Given the description of an element on the screen output the (x, y) to click on. 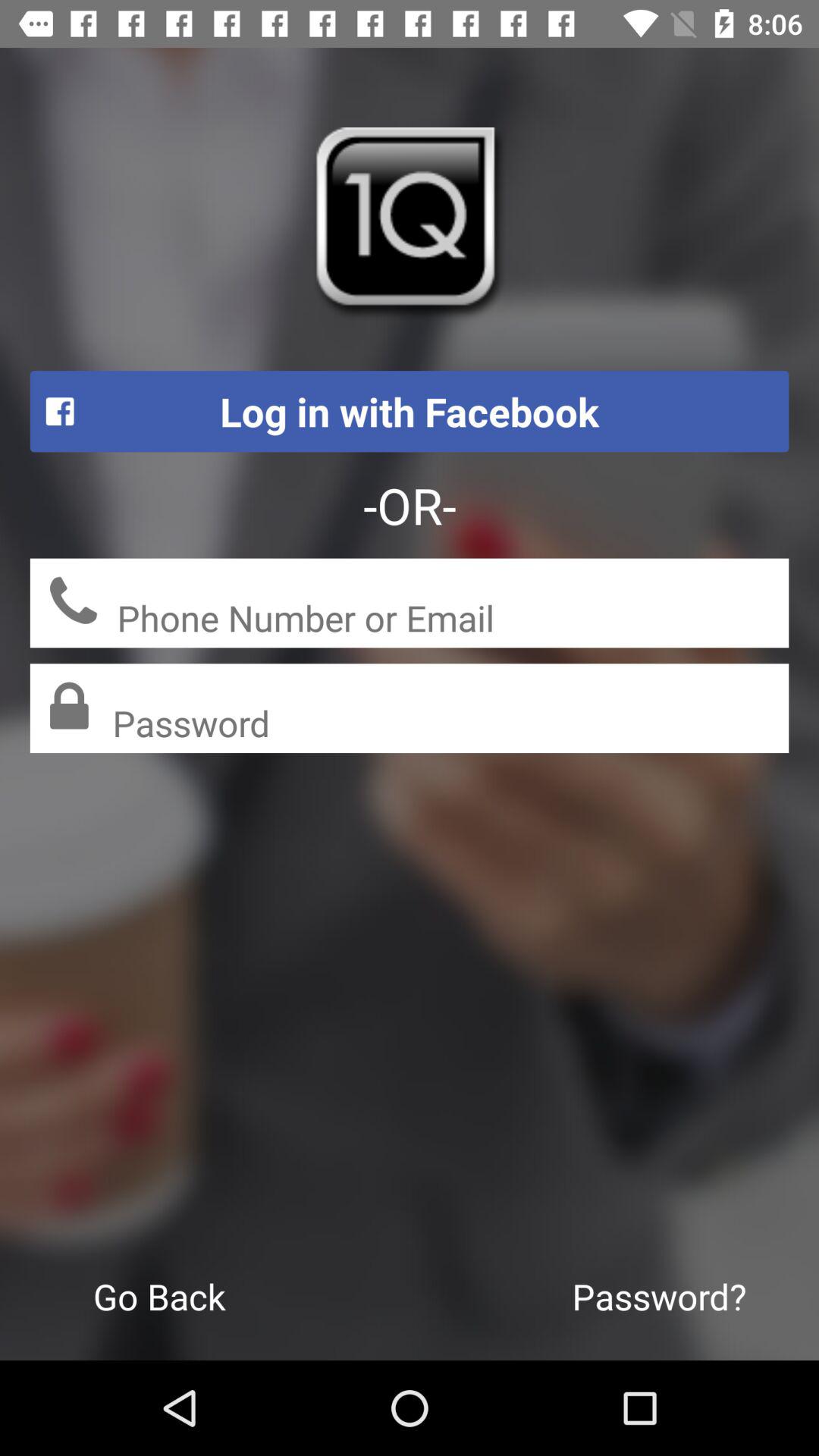
click item above the go back (450, 724)
